Given the description of an element on the screen output the (x, y) to click on. 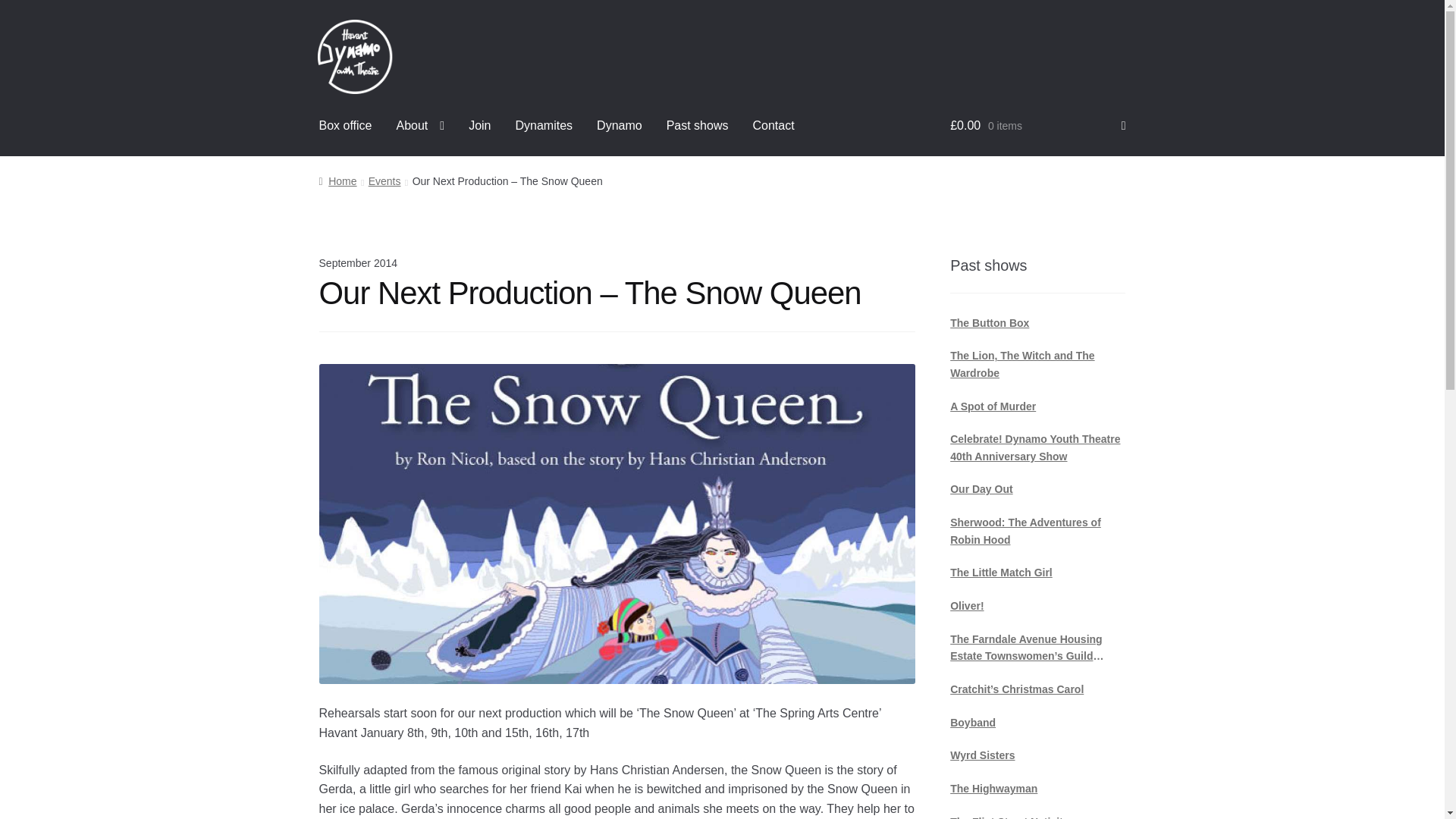
About (420, 125)
Past shows (697, 125)
Dynamites (544, 125)
Contact (772, 125)
Box office (345, 125)
View your shopping basket (1037, 125)
Dynamo (619, 125)
